Given the description of an element on the screen output the (x, y) to click on. 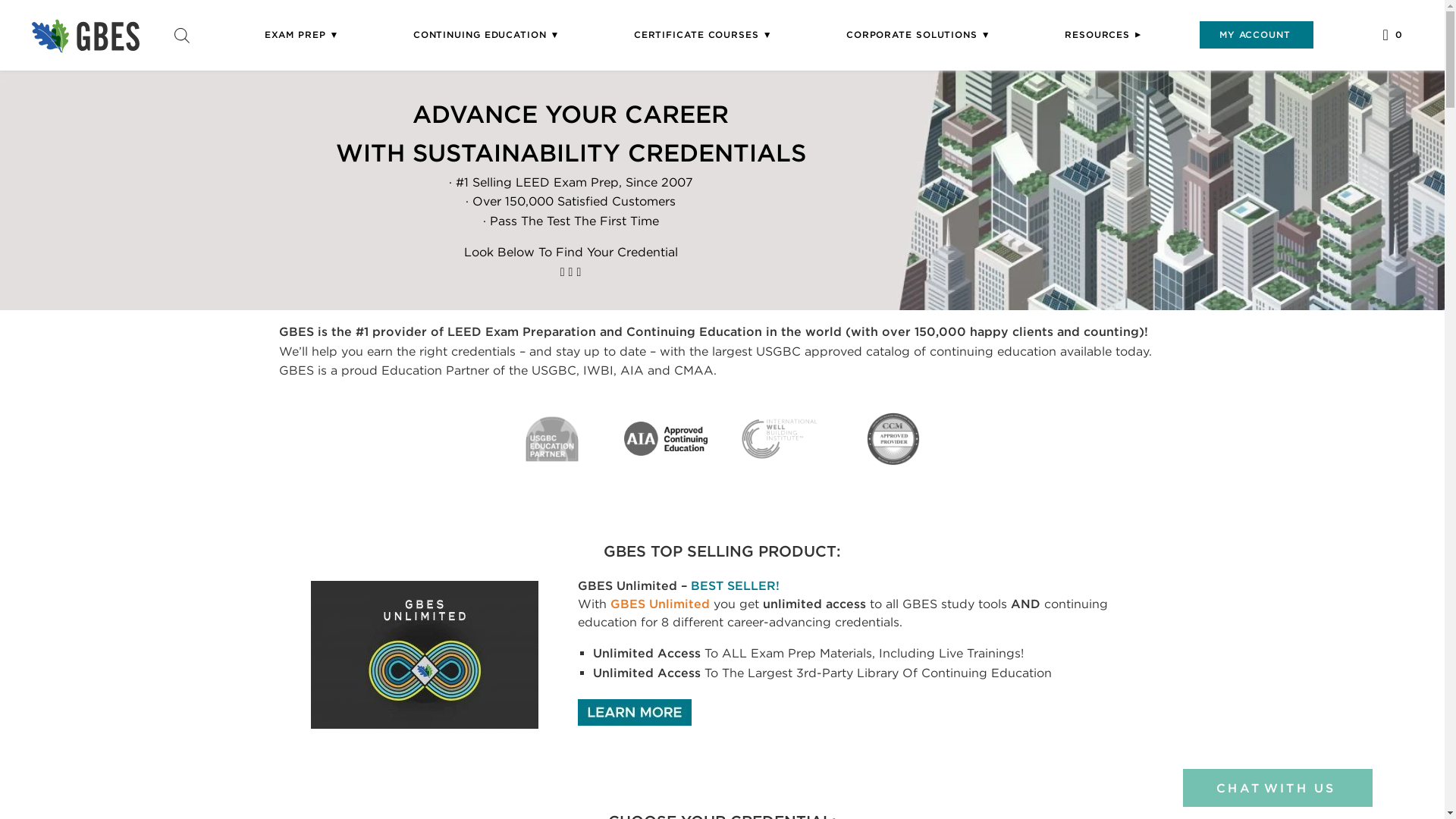
CONTINUING EDUCATION (486, 34)
View your shopping cart (1392, 34)
CORPORATE SOLUTIONS (917, 34)
Log In, Courses, Profile, Account Settings (1256, 34)
EXAM PREP (301, 34)
CERTIFICATE COURSES (702, 34)
